Given the description of an element on the screen output the (x, y) to click on. 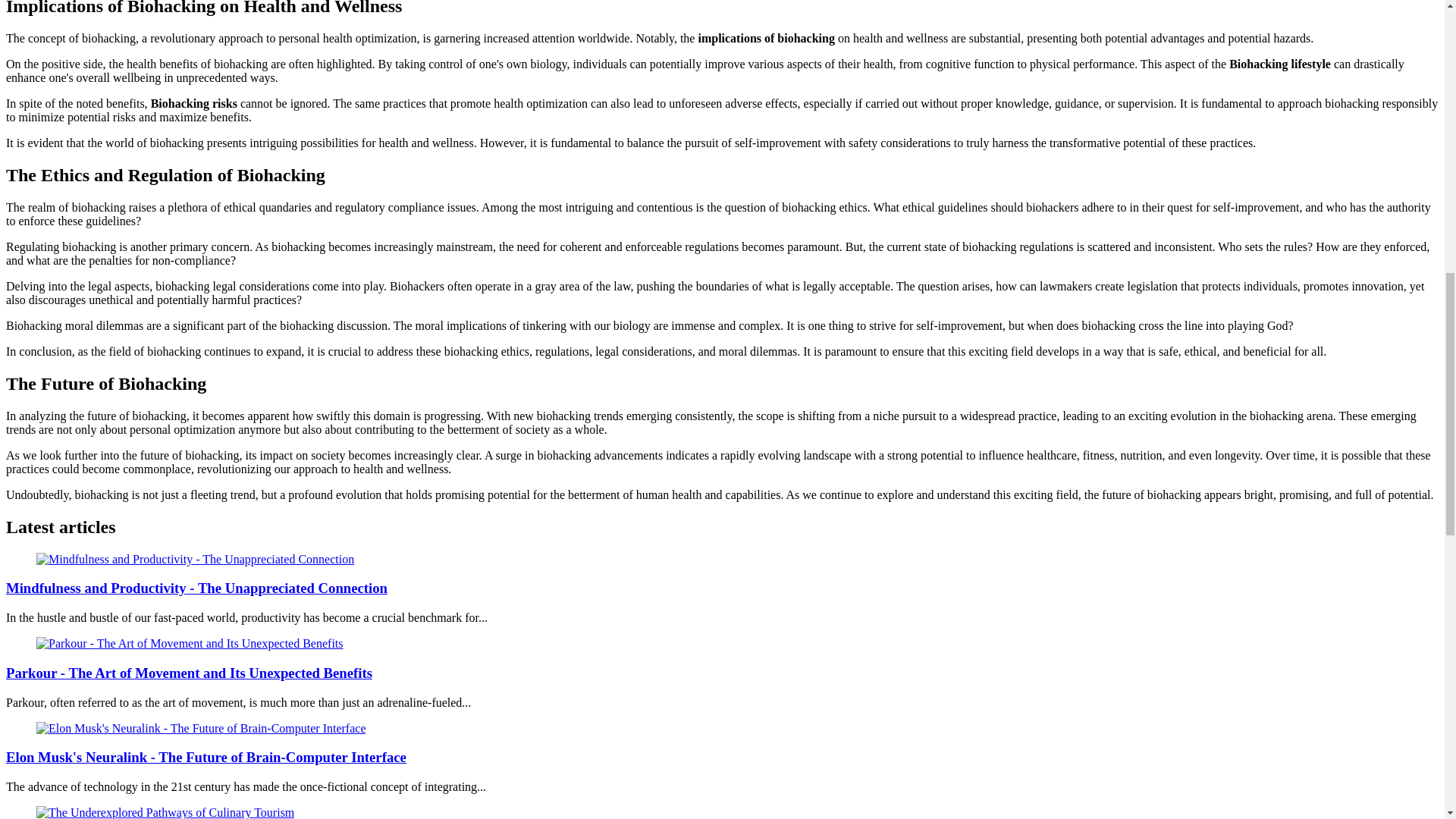
The Underexplored Pathways of Culinary Tourism (165, 812)
Mindfulness and Productivity - The Unappreciated Connection (194, 558)
Mindfulness and Productivity - The Unappreciated Connection (196, 587)
Parkour - The Art of Movement and Its Unexpected Benefits (188, 672)
Mindfulness and Productivity - The Unappreciated Connection (196, 587)
Parkour - The Art of Movement and Its Unexpected Benefits (189, 643)
Parkour - The Art of Movement and Its Unexpected Benefits (188, 672)
